Given the description of an element on the screen output the (x, y) to click on. 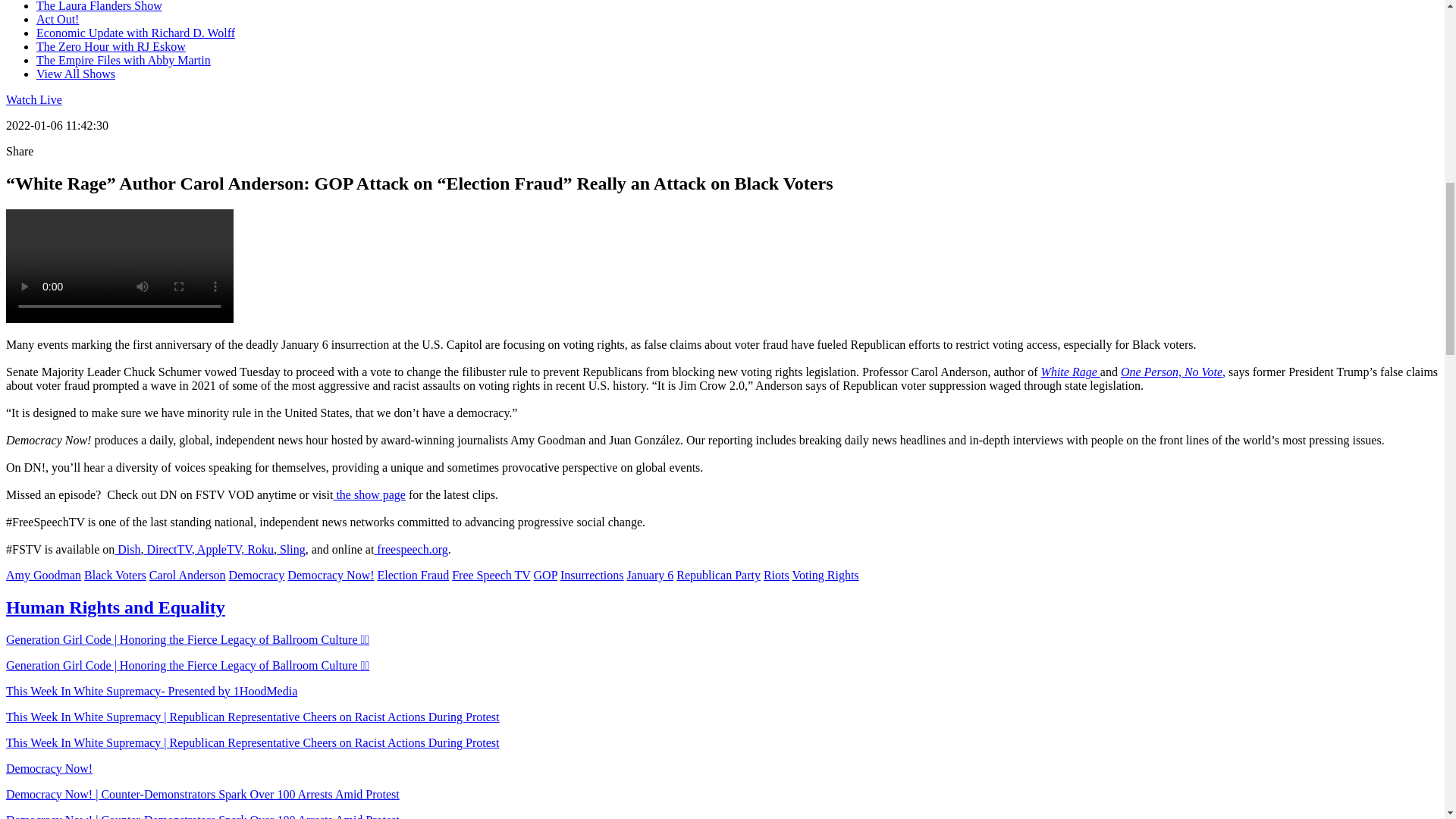
Act Out! (57, 19)
The Laura Flanders Show (98, 6)
